Given the description of an element on the screen output the (x, y) to click on. 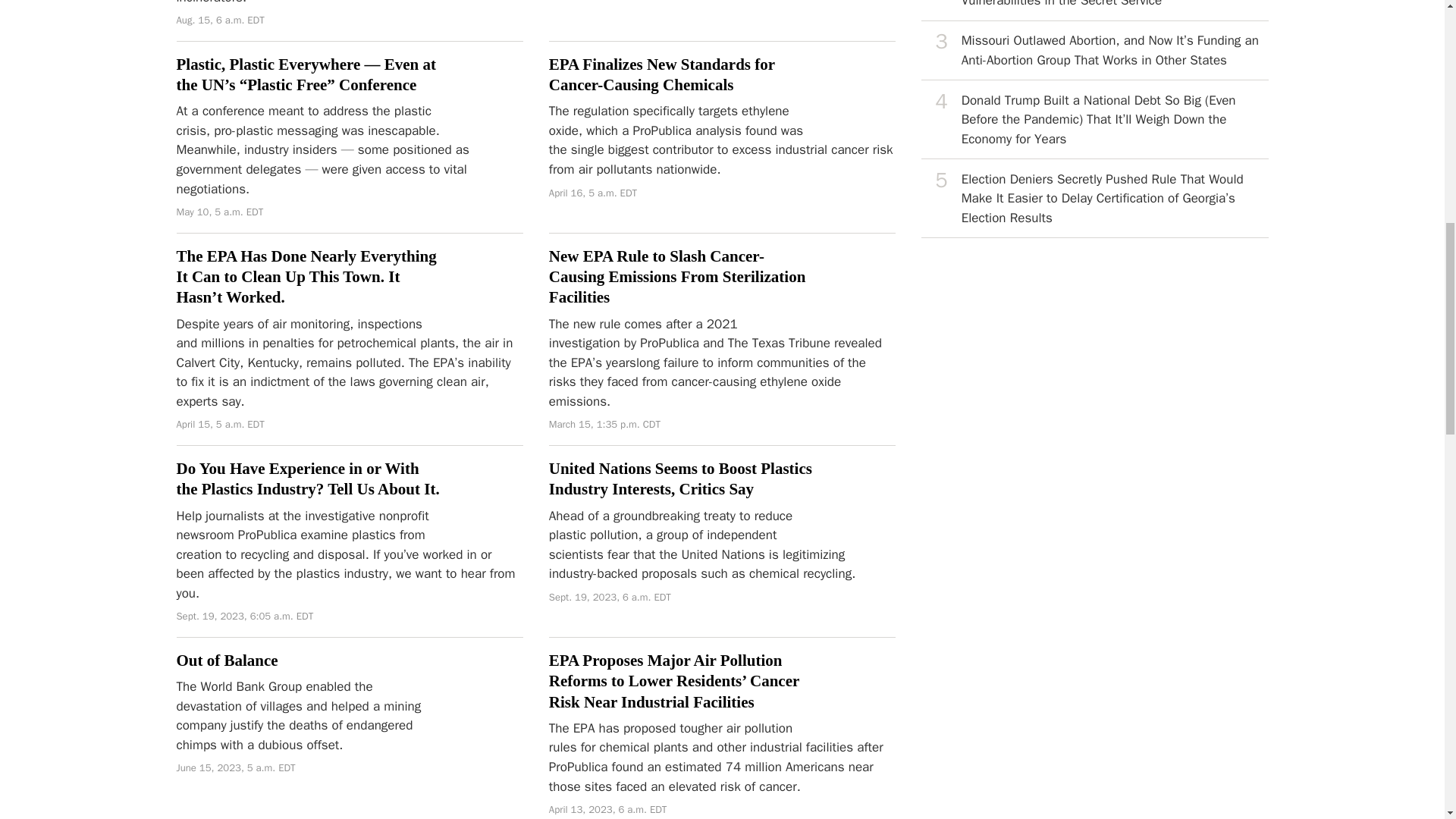
View this (1094, 119)
View this (1094, 50)
View this (1094, 10)
View this (1094, 198)
EPA Finalizes New Standards for Cancer-Causing Chemicals (661, 75)
